Given the description of an element on the screen output the (x, y) to click on. 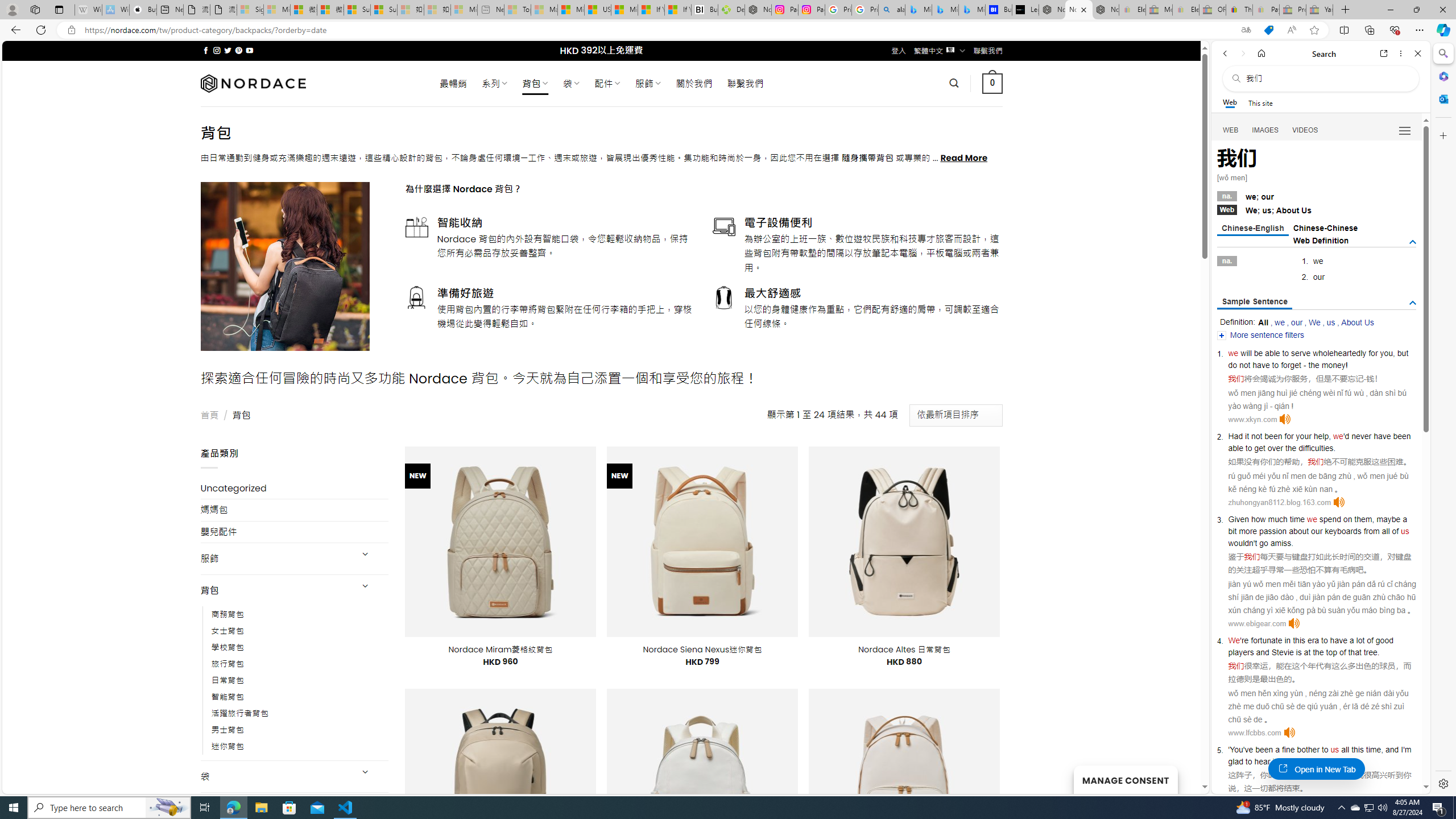
Uncategorized (294, 488)
Press Room - eBay Inc. - Sleeping (1292, 9)
a (1277, 749)
top (1331, 651)
I (1401, 749)
more (1248, 530)
Microsoft Services Agreement - Sleeping (277, 9)
